Given the description of an element on the screen output the (x, y) to click on. 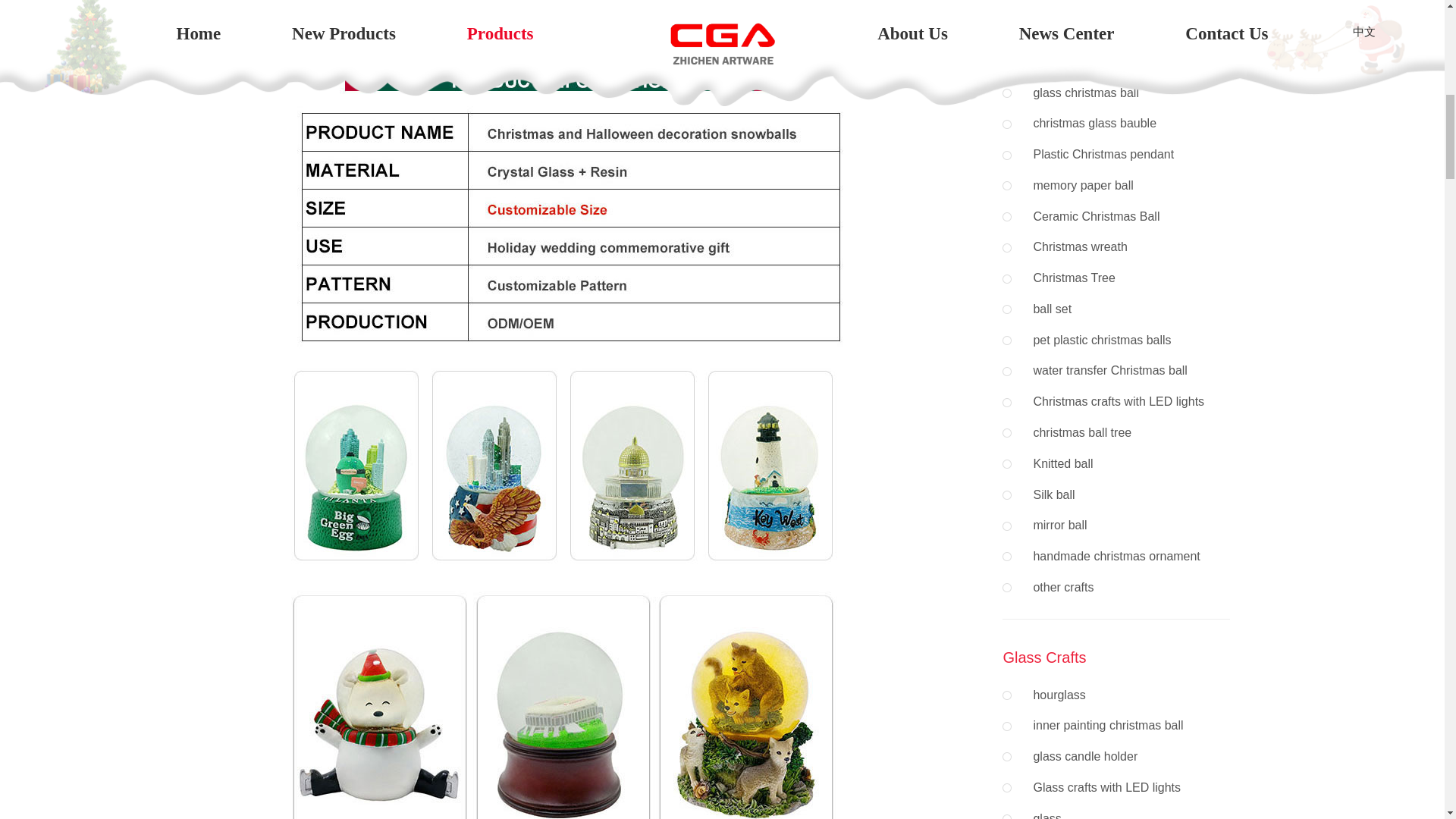
Plastic Christmas pendant (1116, 154)
glass christmas ball (1116, 92)
christmas glass bauble (1116, 123)
Christmas crafts (1057, 54)
